Given the description of an element on the screen output the (x, y) to click on. 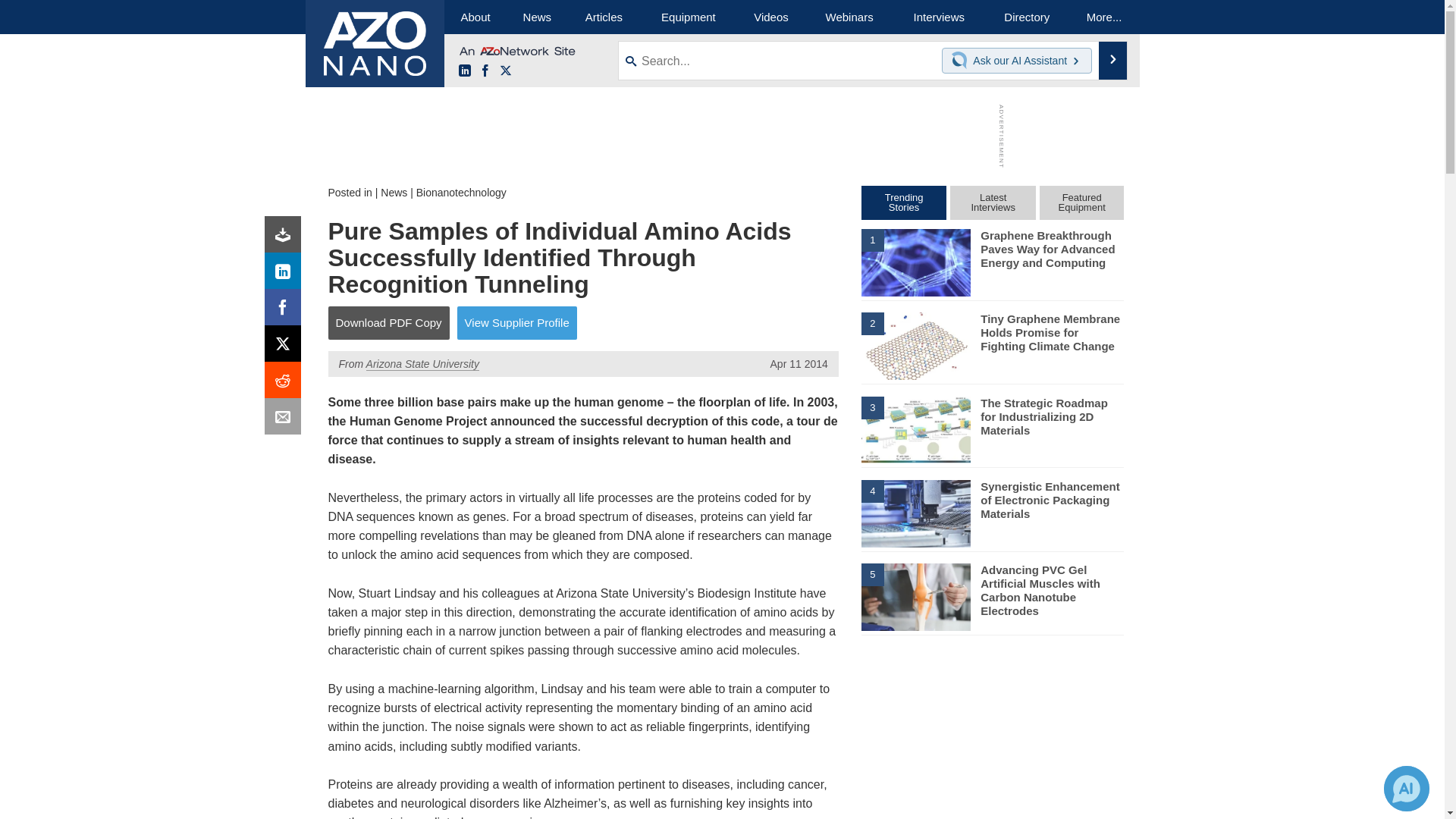
Chat with our AI Assistant Ask our AI Assistant (1017, 60)
X (505, 71)
About (475, 17)
Bionanotechnology (461, 192)
Directory (1026, 17)
X (285, 348)
Reddit (285, 384)
Articles (603, 17)
Facebook (485, 71)
Facebook (285, 311)
News (393, 192)
Chat with our AI Assistant (962, 60)
Equipment (688, 17)
News (536, 17)
3rd party ad content (992, 733)
